Given the description of an element on the screen output the (x, y) to click on. 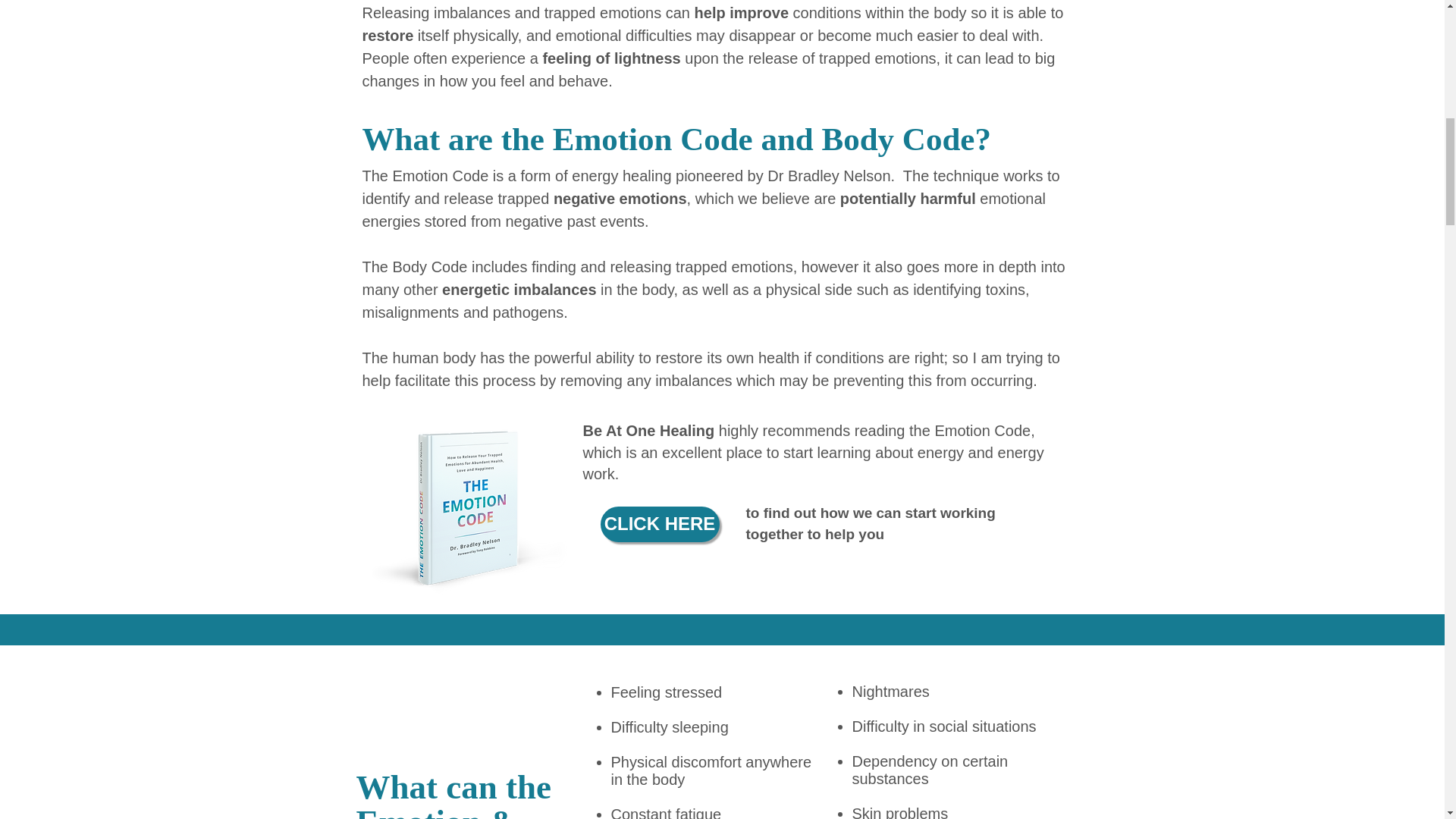
CLICK HERE (659, 524)
